Given the description of an element on the screen output the (x, y) to click on. 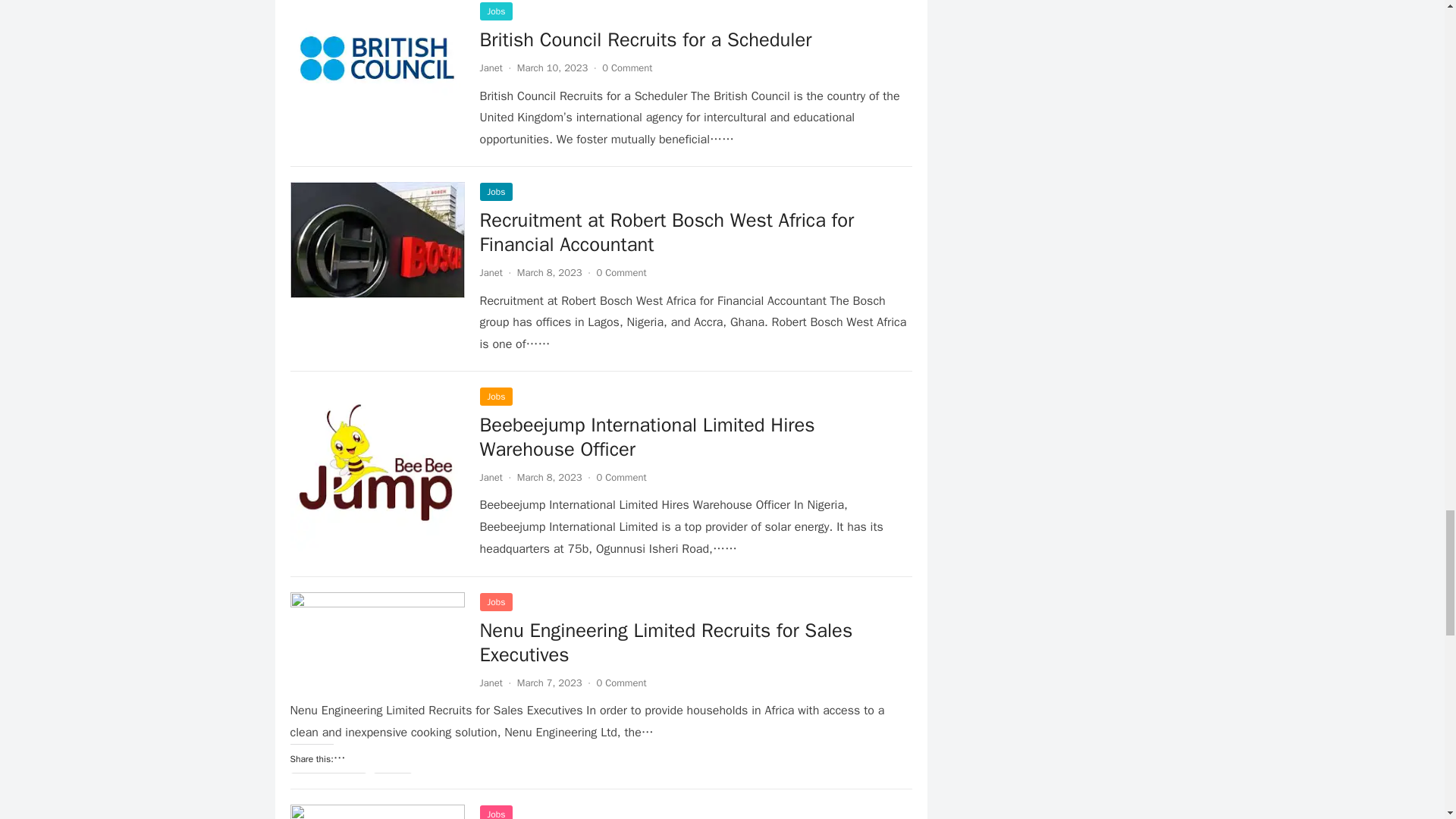
Jobs (495, 11)
0 Comment (627, 67)
Janet (490, 67)
Posts by Janet (490, 272)
Posts by Janet (490, 67)
Posts by Janet (490, 477)
British Council Recruits for a Scheduler (644, 39)
